Given the description of an element on the screen output the (x, y) to click on. 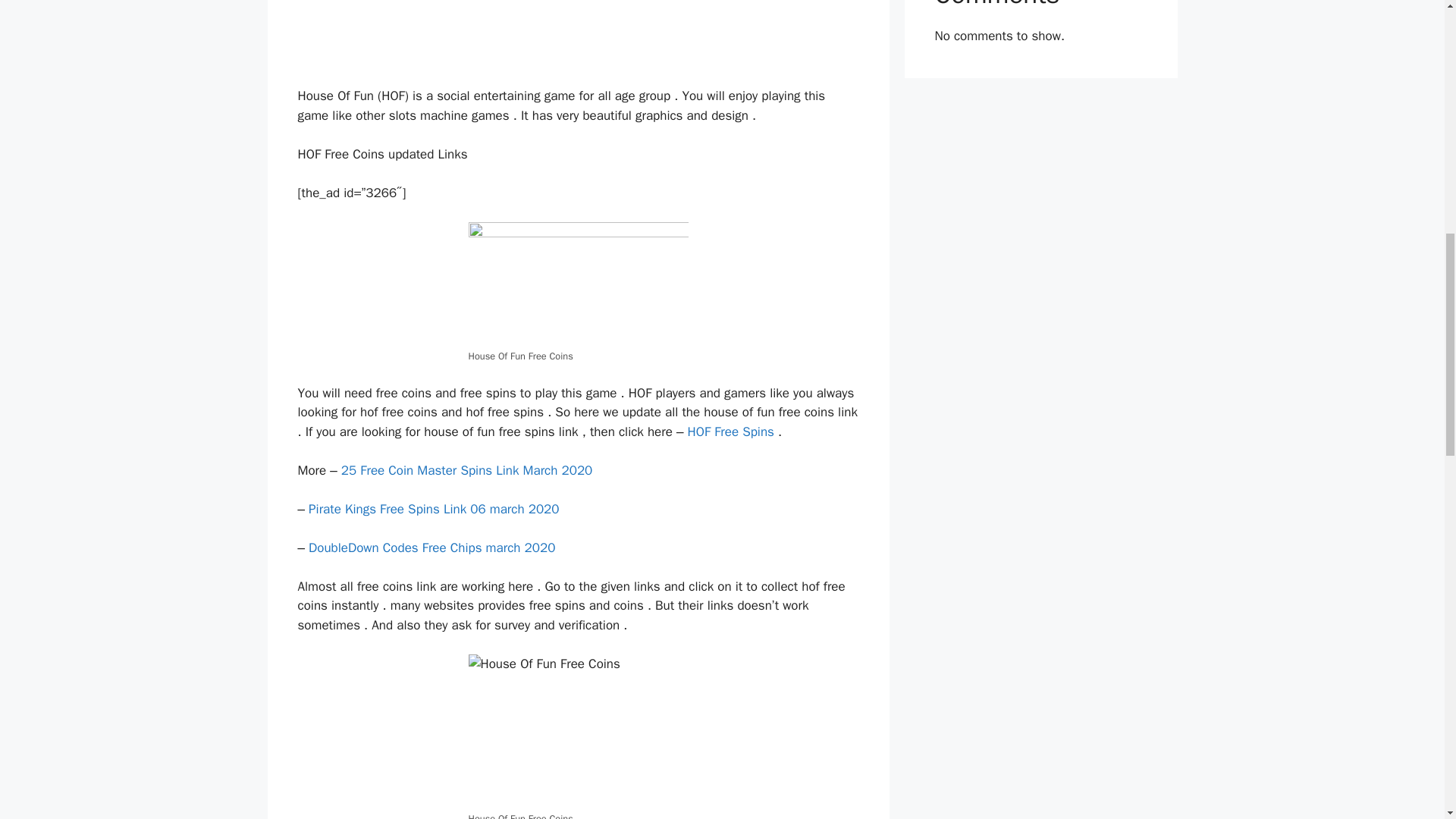
HOF Free Spins (730, 431)
25 Free Coin Master Spins Link March 2020 (466, 470)
Pirate Kings Free Spins Link 06 march 2020 (433, 508)
DoubleDown Codes Free Chips march 2020 (431, 547)
